Given the description of an element on the screen output the (x, y) to click on. 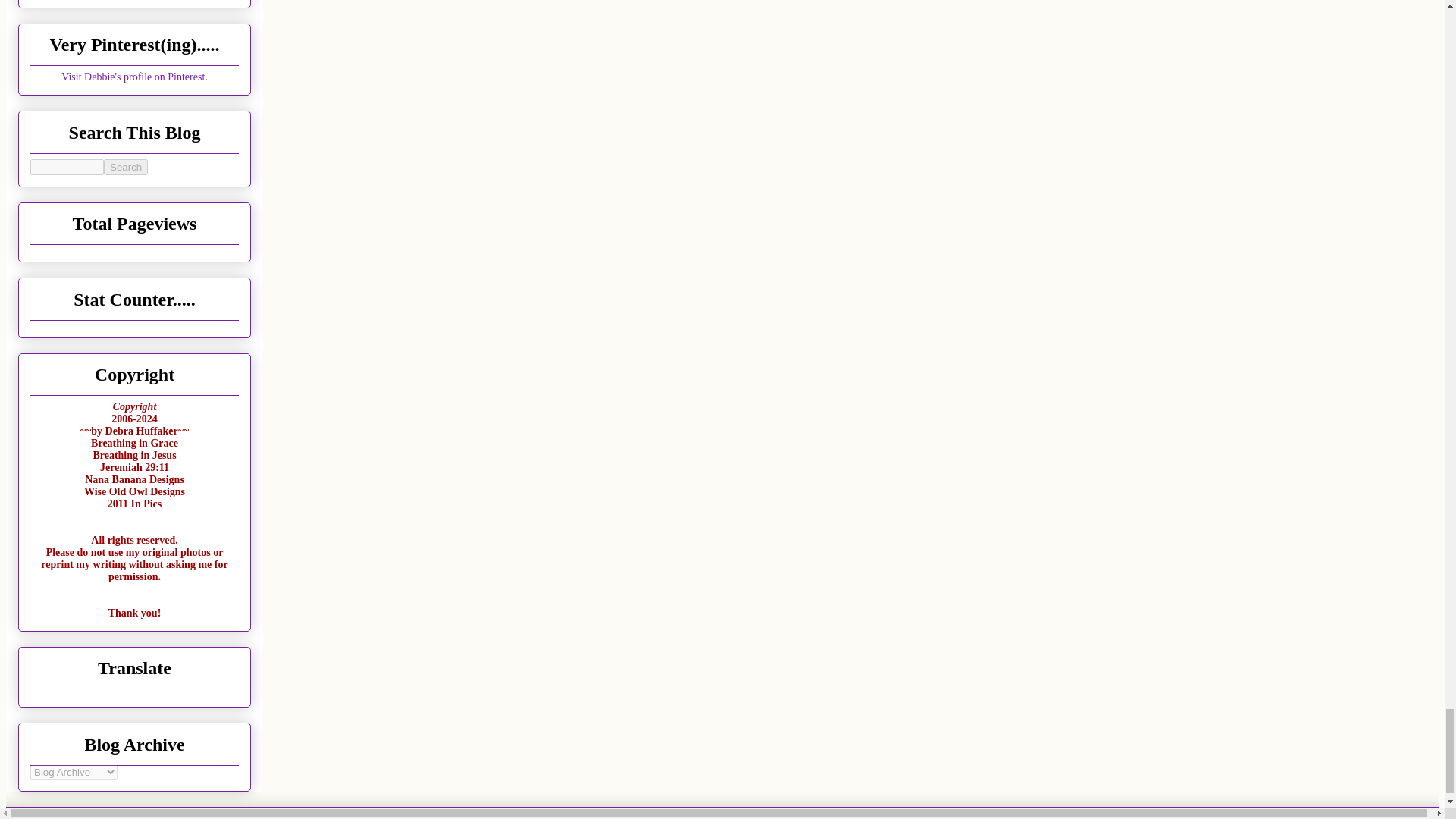
Search (125, 166)
Search (125, 166)
search (66, 166)
search (125, 166)
